Given the description of an element on the screen output the (x, y) to click on. 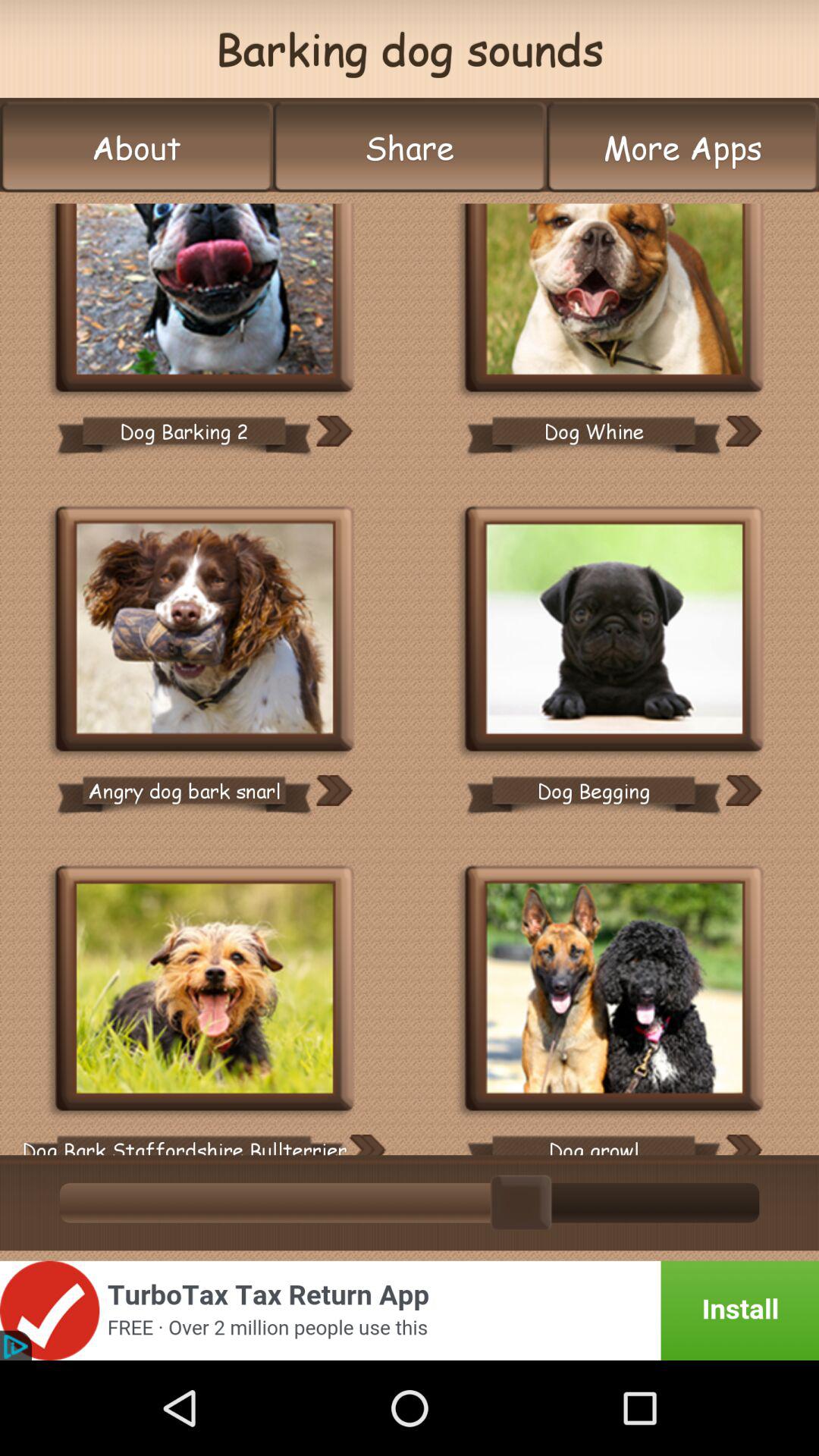
play audio (613, 298)
